Given the description of an element on the screen output the (x, y) to click on. 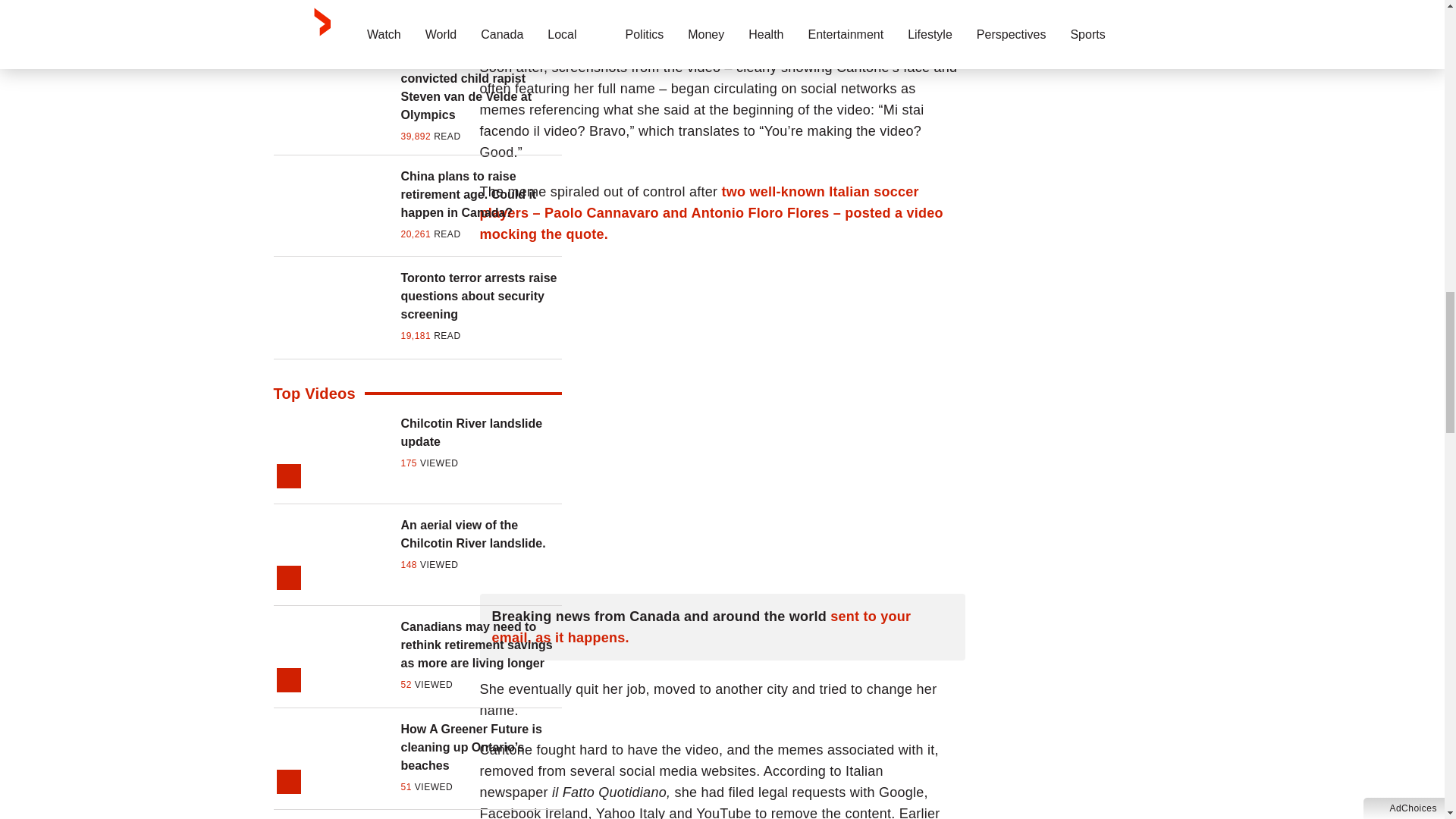
Chilcotin River landslide update (480, 432)
An aerial view of the Chilcotin River landslide. (480, 534)
